Given the description of an element on the screen output the (x, y) to click on. 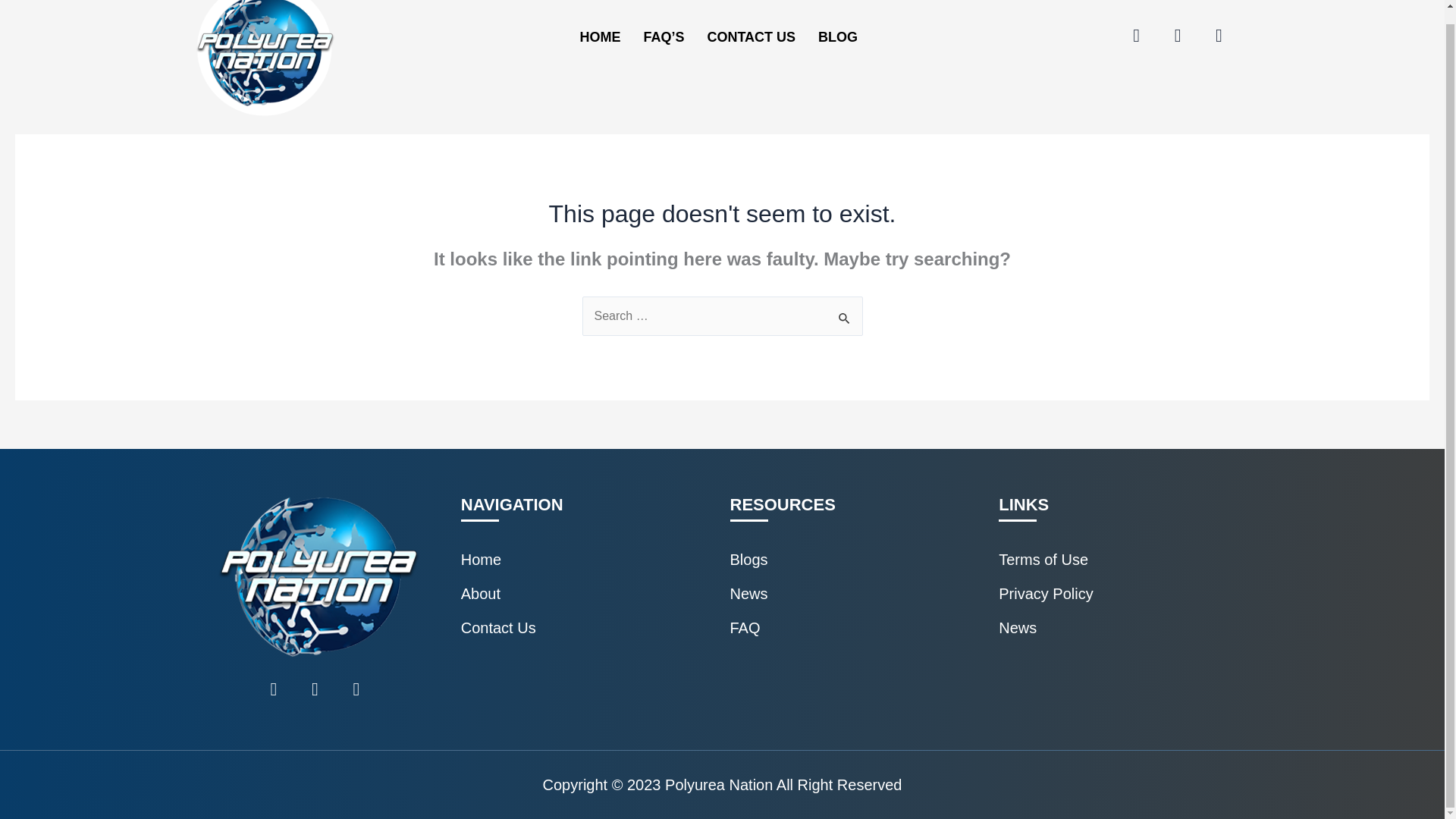
BLOG (837, 37)
HOME (599, 37)
CONTACT US (750, 37)
